Given the description of an element on the screen output the (x, y) to click on. 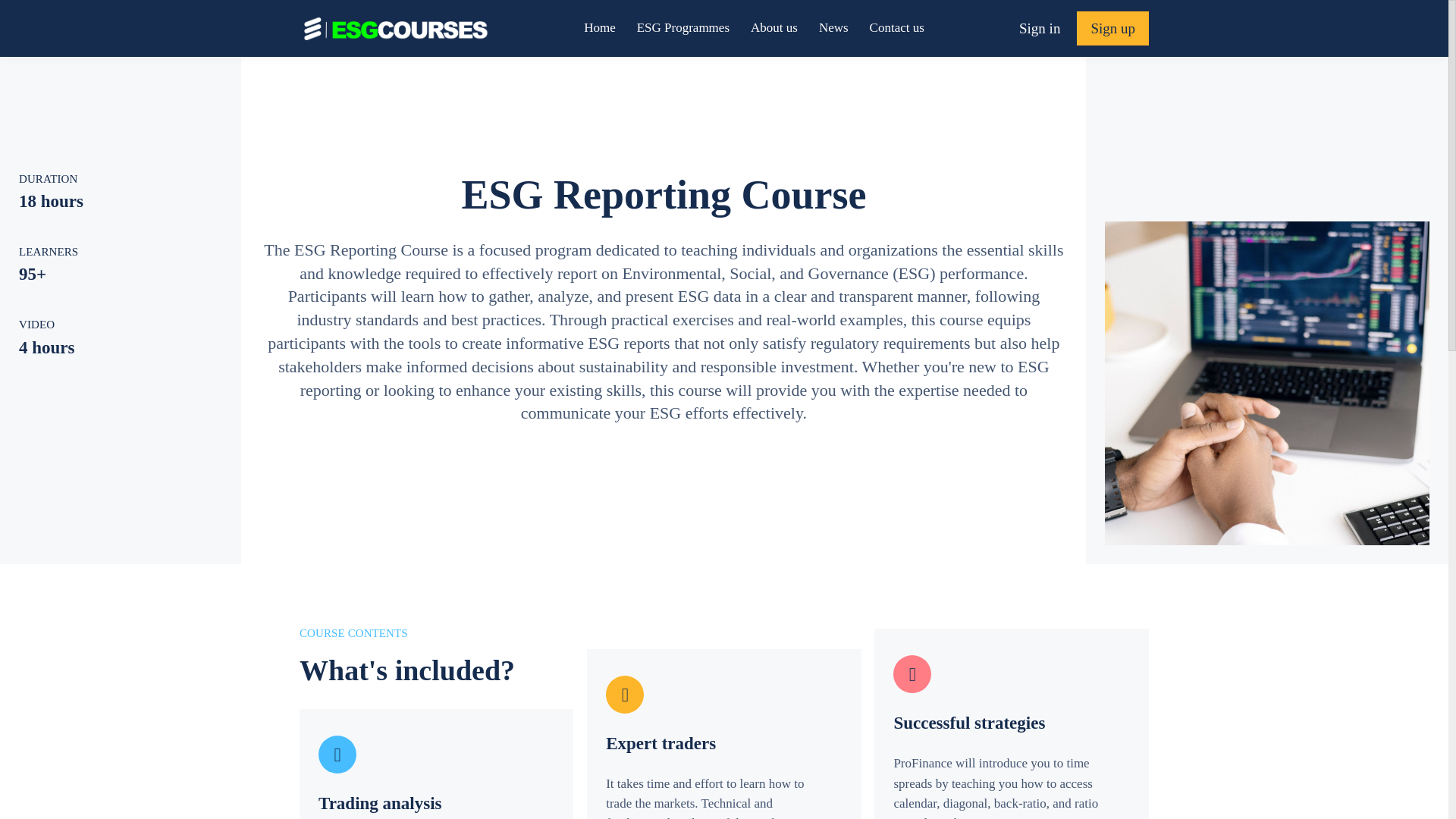
Sign in (1039, 28)
About us (774, 27)
Home (599, 27)
News (833, 27)
Sign up (1112, 28)
ESG Programmes (683, 27)
Contact us (896, 27)
